Given the description of an element on the screen output the (x, y) to click on. 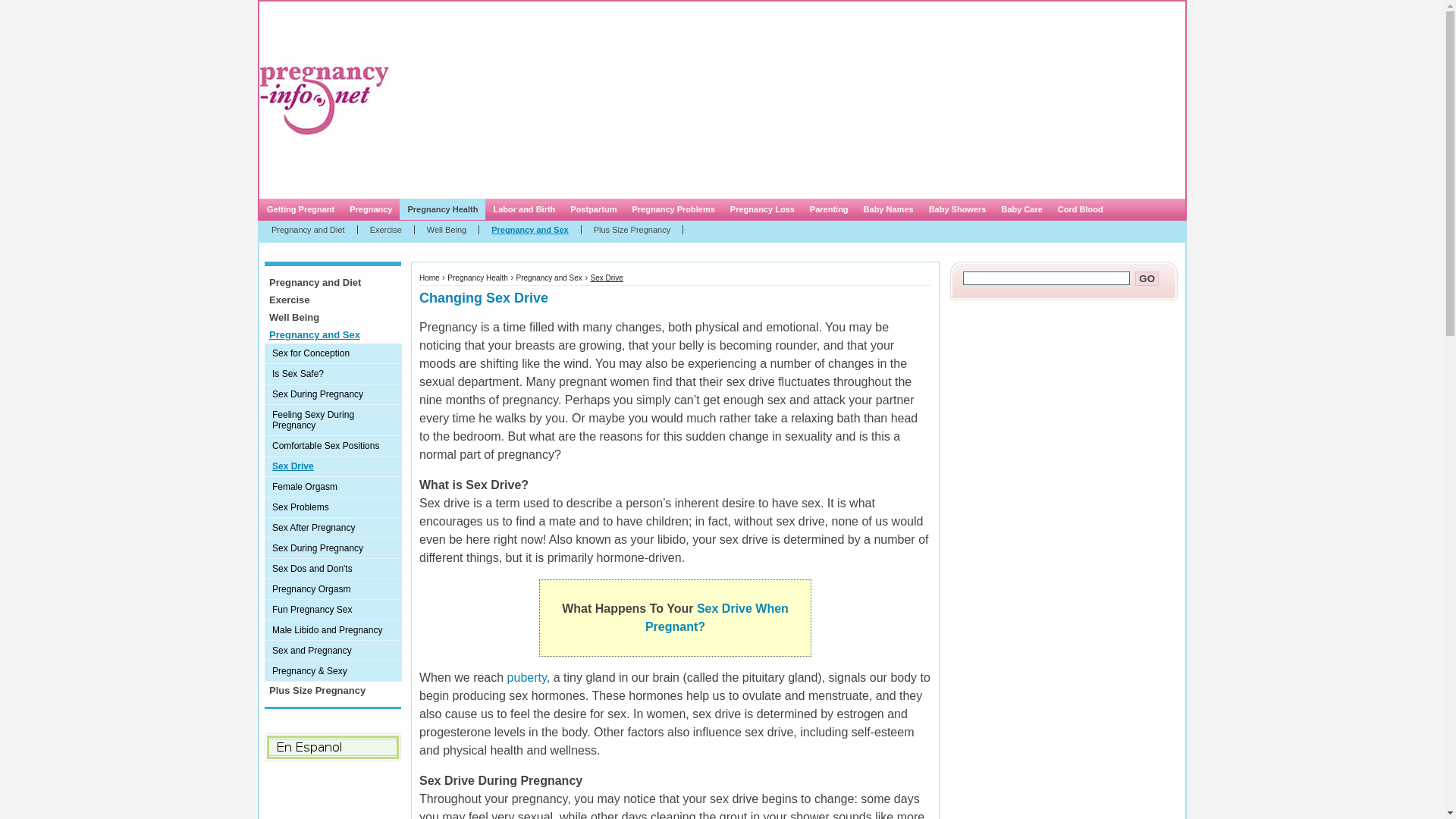
Pregnancy and Sex (549, 277)
Pregnancy and Diet (308, 229)
Getting Pregnant (300, 209)
Baby Care (1020, 209)
Baby Showers (957, 209)
Pregnancy and Diet (331, 282)
Parenting (829, 209)
Plus Size Pregnancy (632, 229)
Home (429, 277)
Advertisement (718, 99)
